Given the description of an element on the screen output the (x, y) to click on. 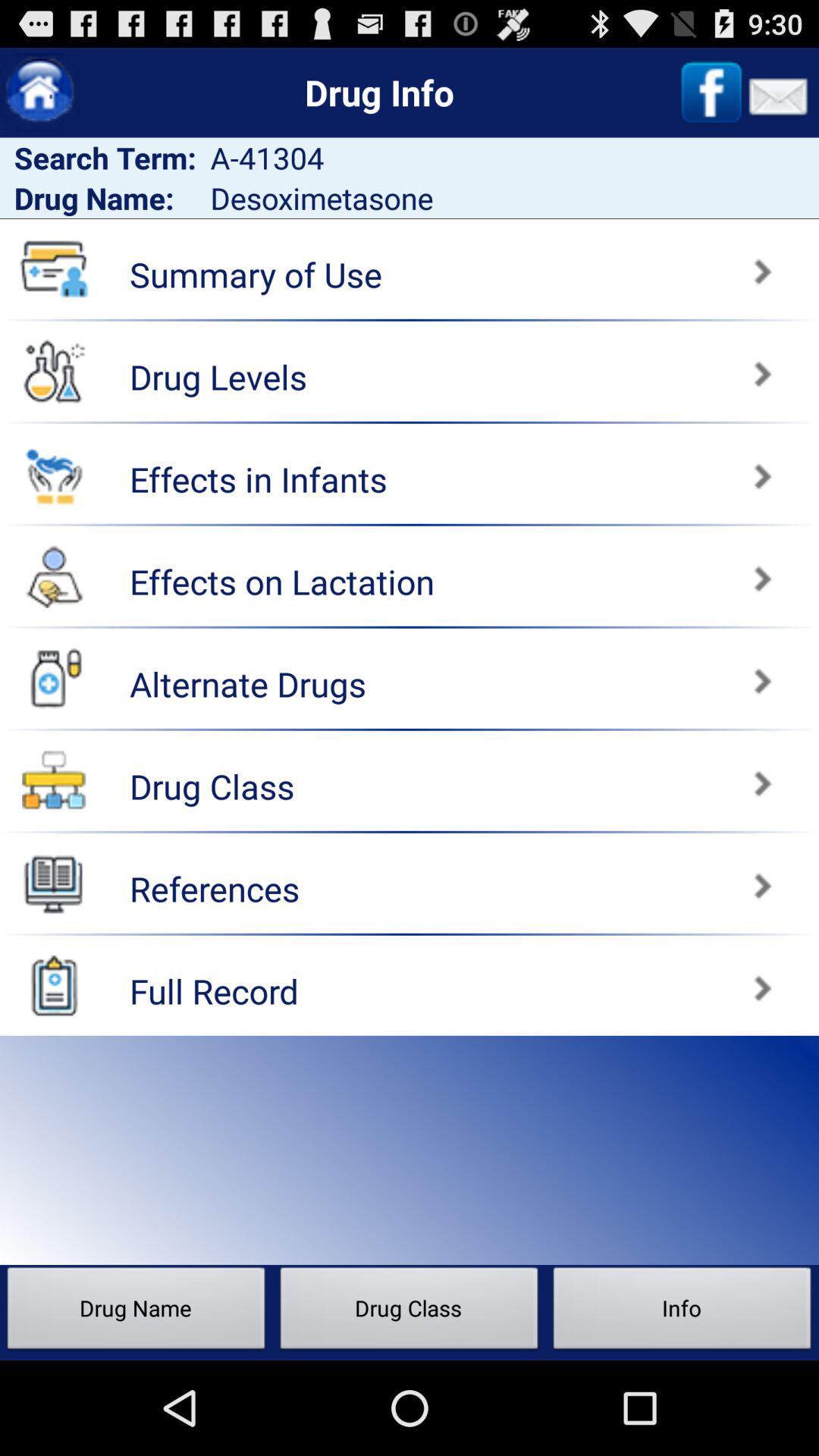
drug levels (53, 371)
